Given the description of an element on the screen output the (x, y) to click on. 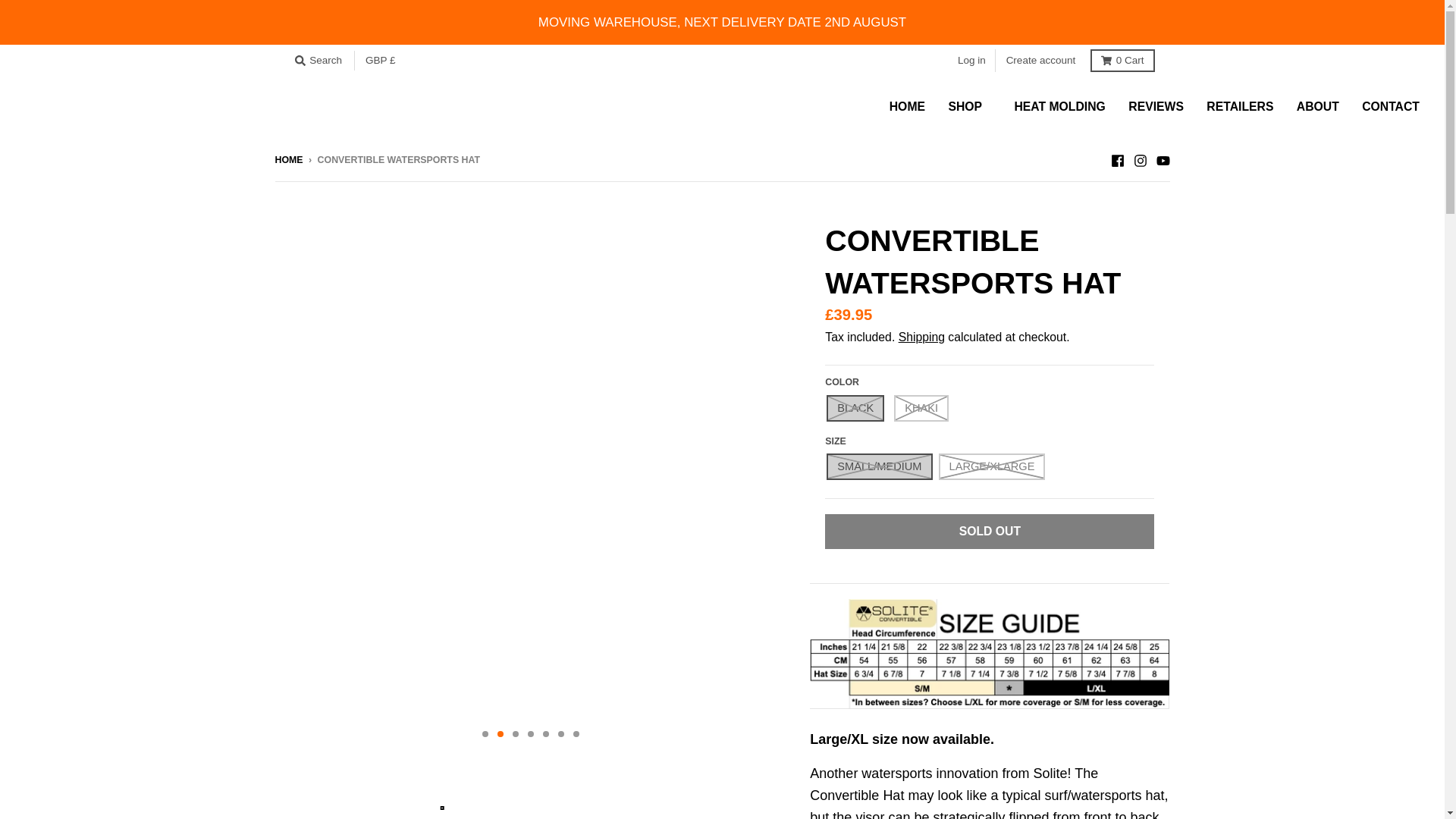
Log in (971, 60)
SHOP (969, 106)
0 Cart (1122, 60)
Khaki (921, 407)
ABOUT (1318, 106)
HEAT MOLDING (1059, 106)
REVIEWS (1155, 106)
Instagram - Solite Boots UK (1139, 159)
Black (855, 407)
Facebook - Solite Boots UK (1116, 159)
HOME (906, 106)
CONTACT (1390, 106)
YouTube - Solite Boots UK (1162, 159)
